Given the description of an element on the screen output the (x, y) to click on. 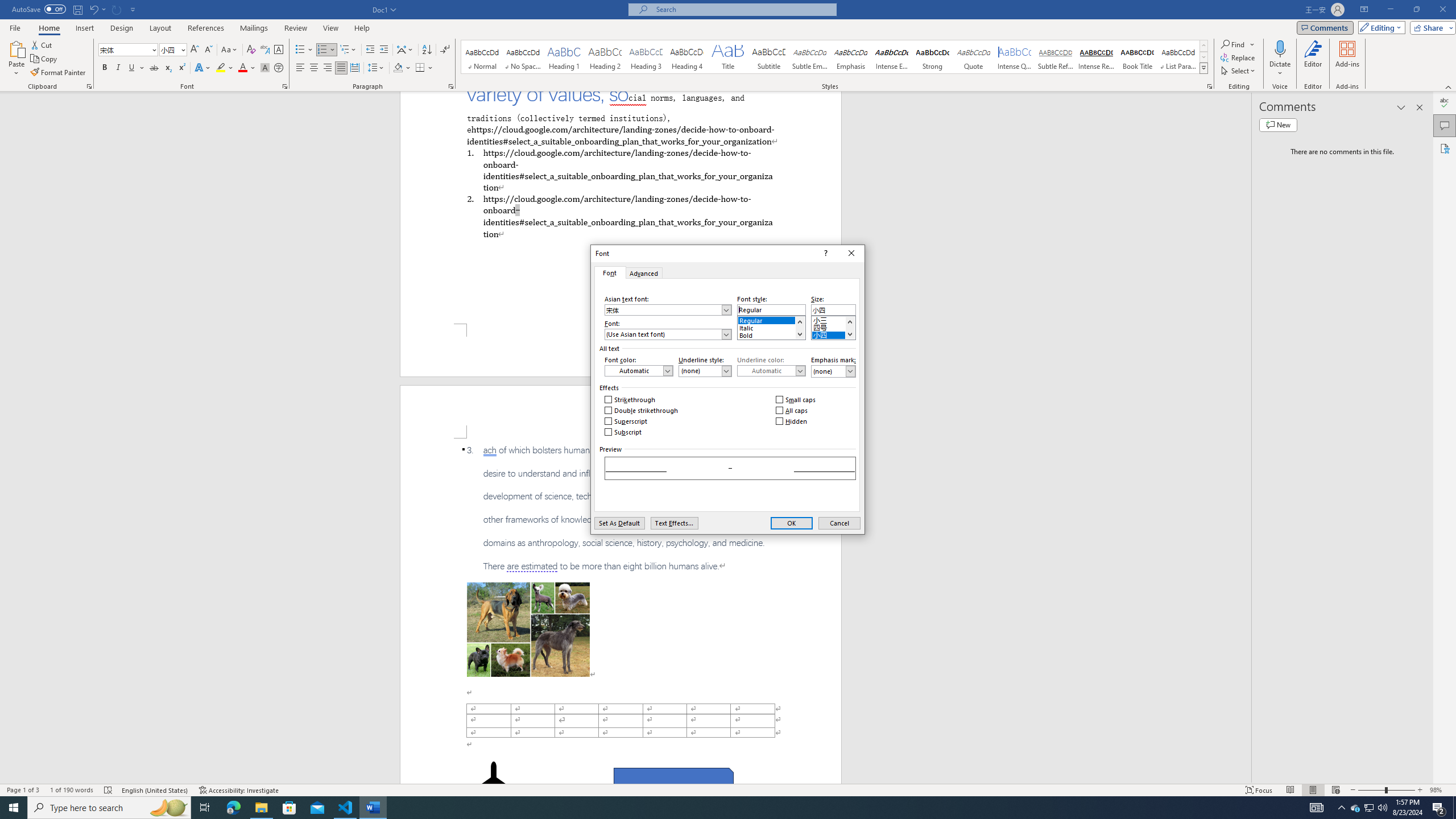
Line down (849, 334)
Close (851, 253)
Small caps (796, 399)
Intense Emphasis (891, 56)
Class: NetUIScrollBar (1245, 437)
Review (295, 28)
Language English (United States) (154, 790)
Comments (1325, 27)
Web Layout (1335, 790)
Mailings (253, 28)
Editing (1379, 27)
Character Shading (264, 67)
Customize Quick Access Toolbar (133, 9)
Save (77, 9)
